Given the description of an element on the screen output the (x, y) to click on. 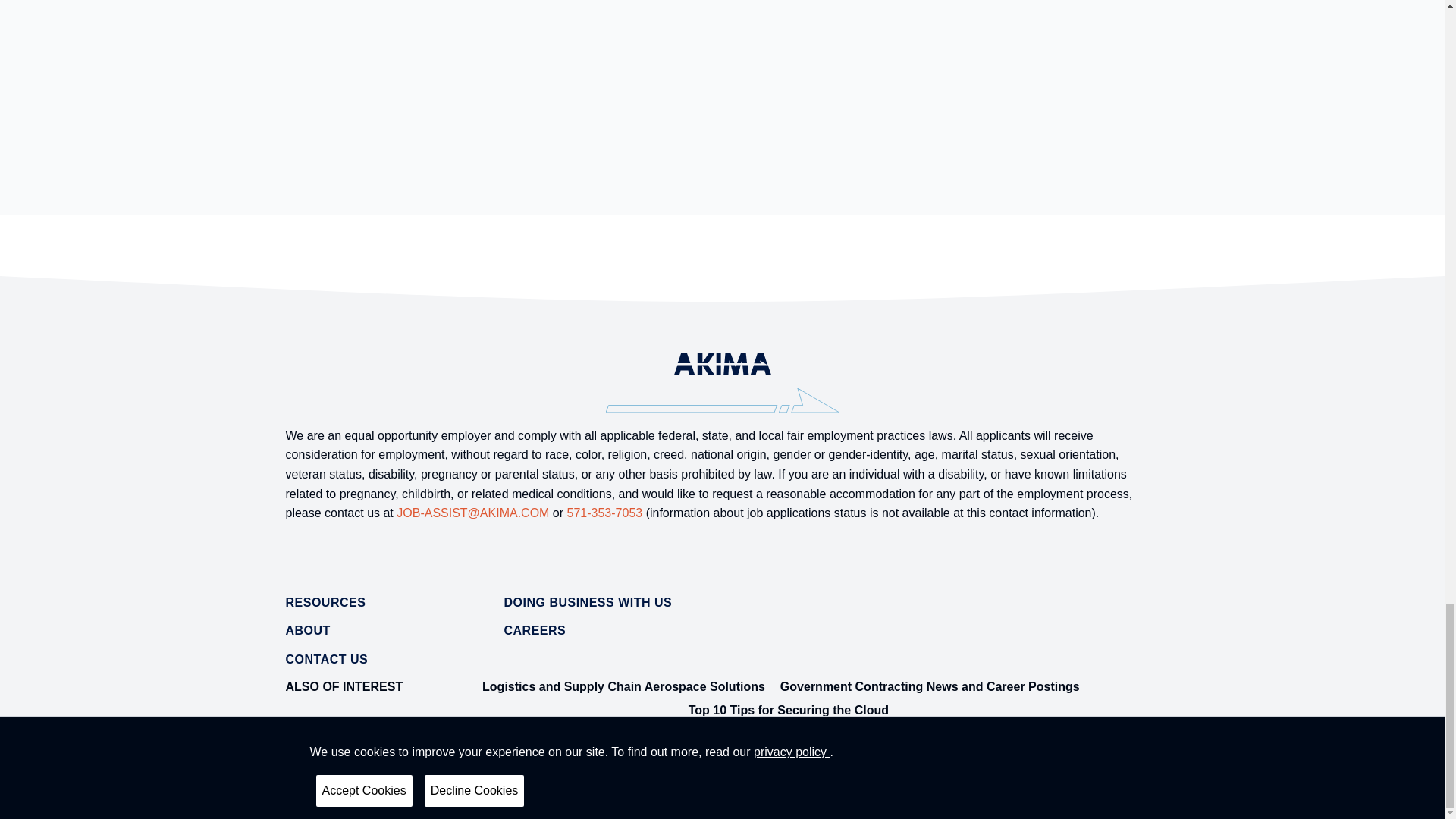
ABOUT (307, 630)
CONTACT US (326, 659)
RESOURCES (325, 601)
Logistics and Supply Chain Aerospace Solutions (623, 686)
CAREERS (534, 630)
571-353-7053 (605, 512)
Government Contracting News and Career Postings (930, 686)
DOING BUSINESS WITH US (587, 601)
Top 10 Tips for Securing the Cloud (788, 709)
Privacy Policy (317, 796)
